Given the description of an element on the screen output the (x, y) to click on. 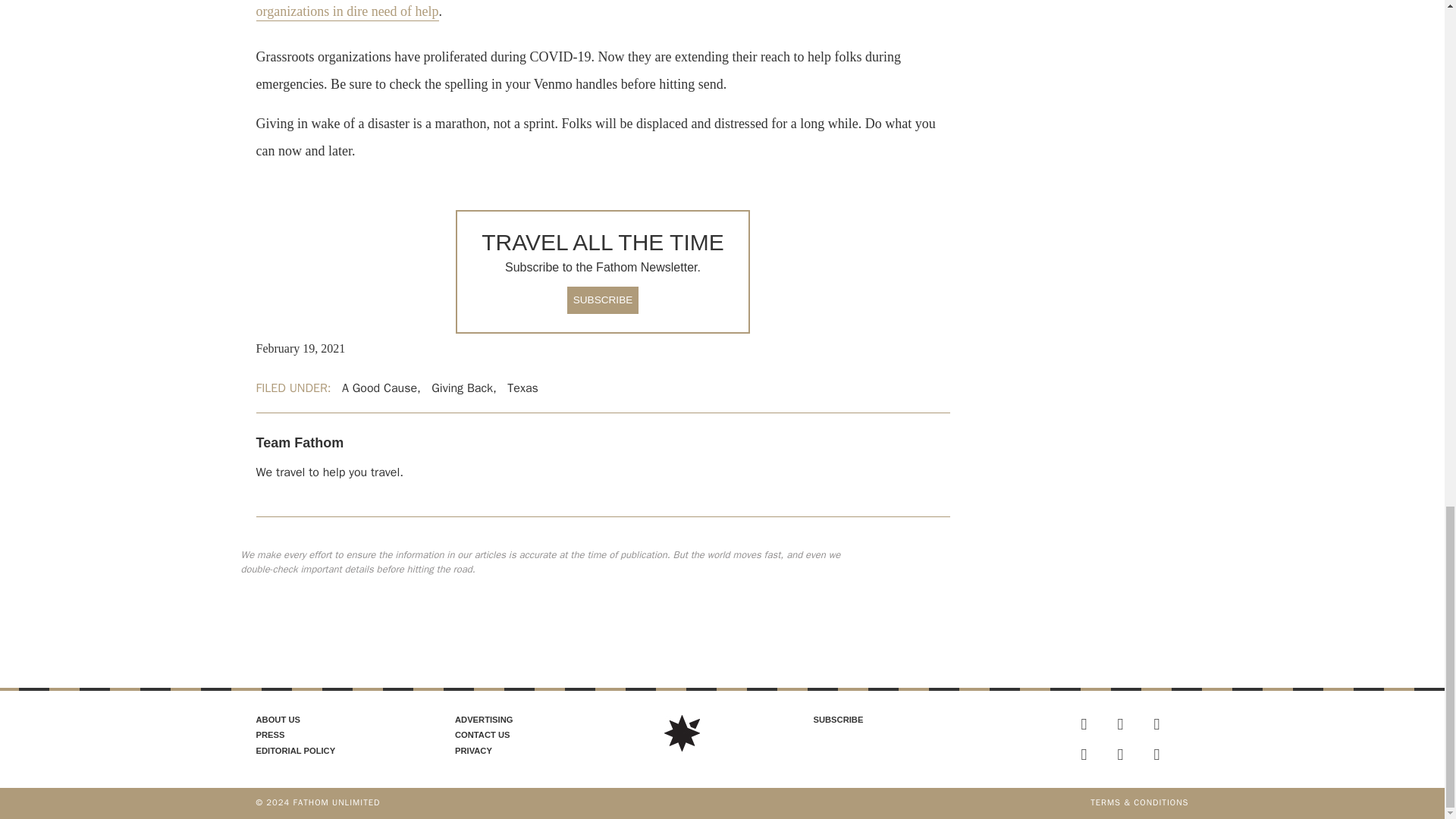
CONTACT US (482, 734)
organizations in dire need of help (347, 12)
Giving Back (461, 387)
EDITORIAL POLICY (296, 750)
ABOUT US (277, 718)
A Good Cause (379, 387)
SUBSCRIBE (603, 299)
Texas (522, 387)
ADVERTISING (483, 718)
PRESS (270, 734)
